Given the description of an element on the screen output the (x, y) to click on. 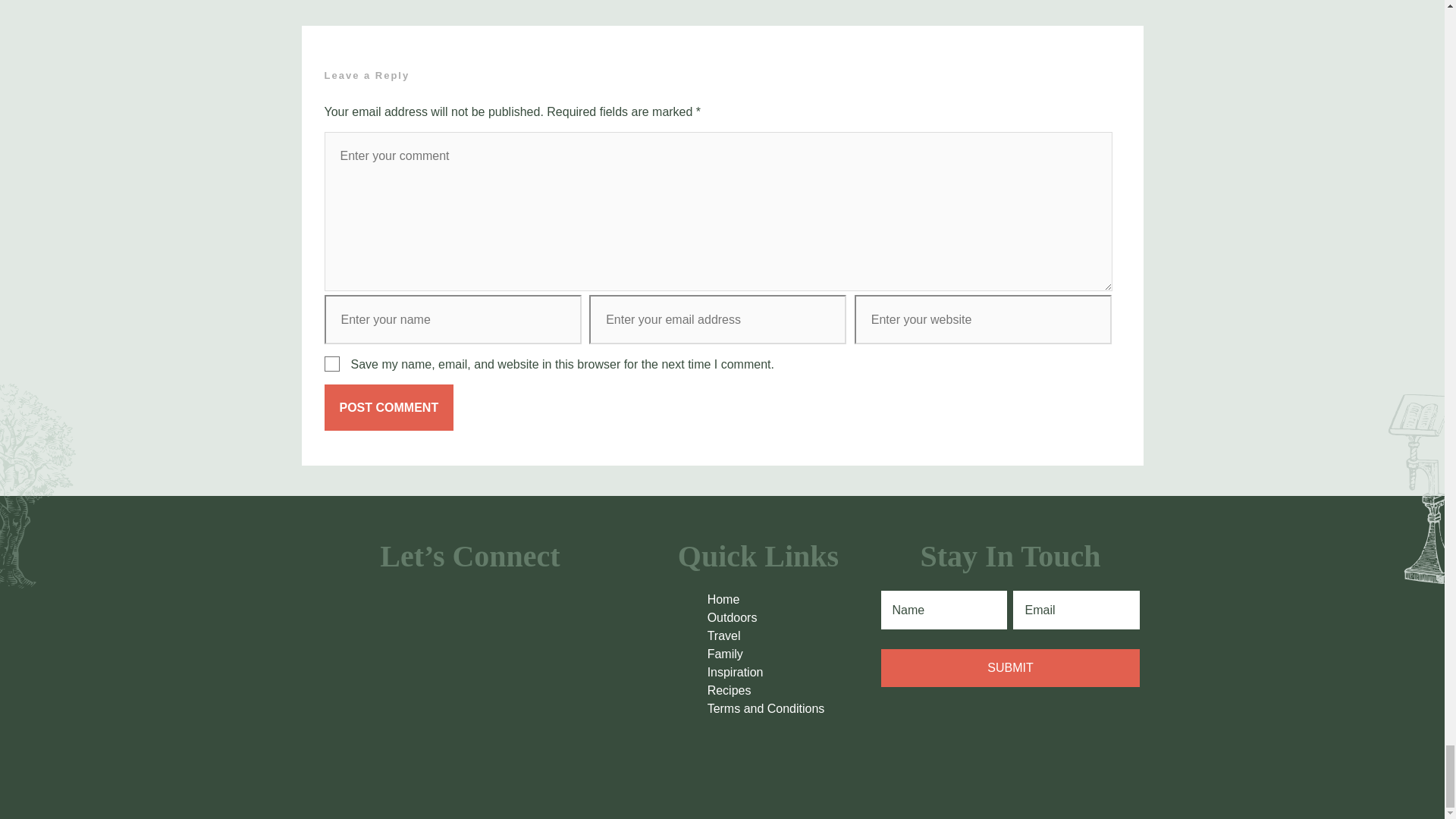
SUBMIT (1010, 668)
Post Comment (389, 407)
